Given the description of an element on the screen output the (x, y) to click on. 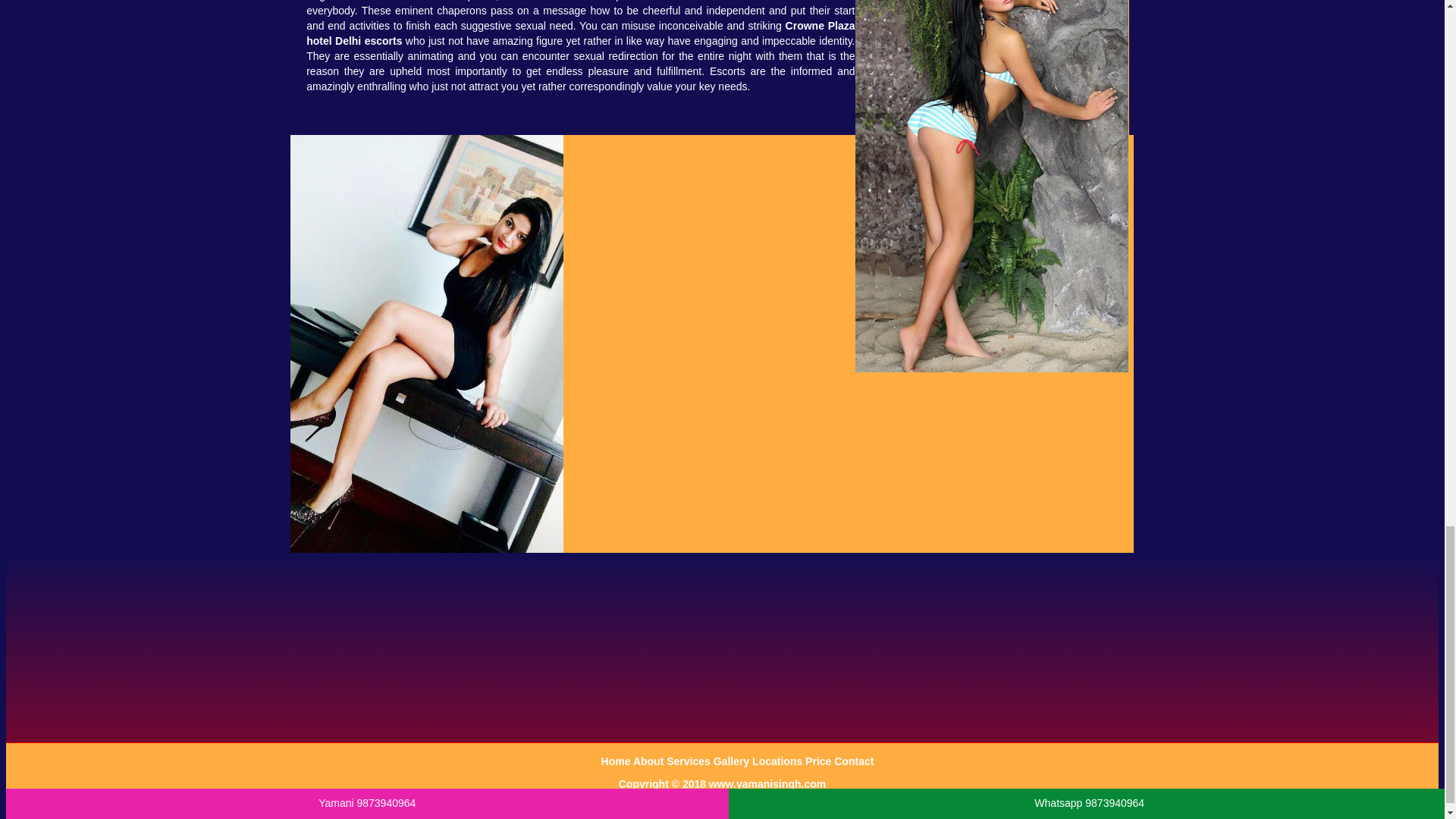
Price (819, 761)
Locations (778, 761)
Crowne Plaza hotel Delhi escorts (579, 32)
About (649, 761)
Crowne Plaza hotel Delhi escorts (579, 32)
Services (689, 761)
Home (617, 761)
Contact (853, 761)
Gallery (732, 761)
